Given the description of an element on the screen output the (x, y) to click on. 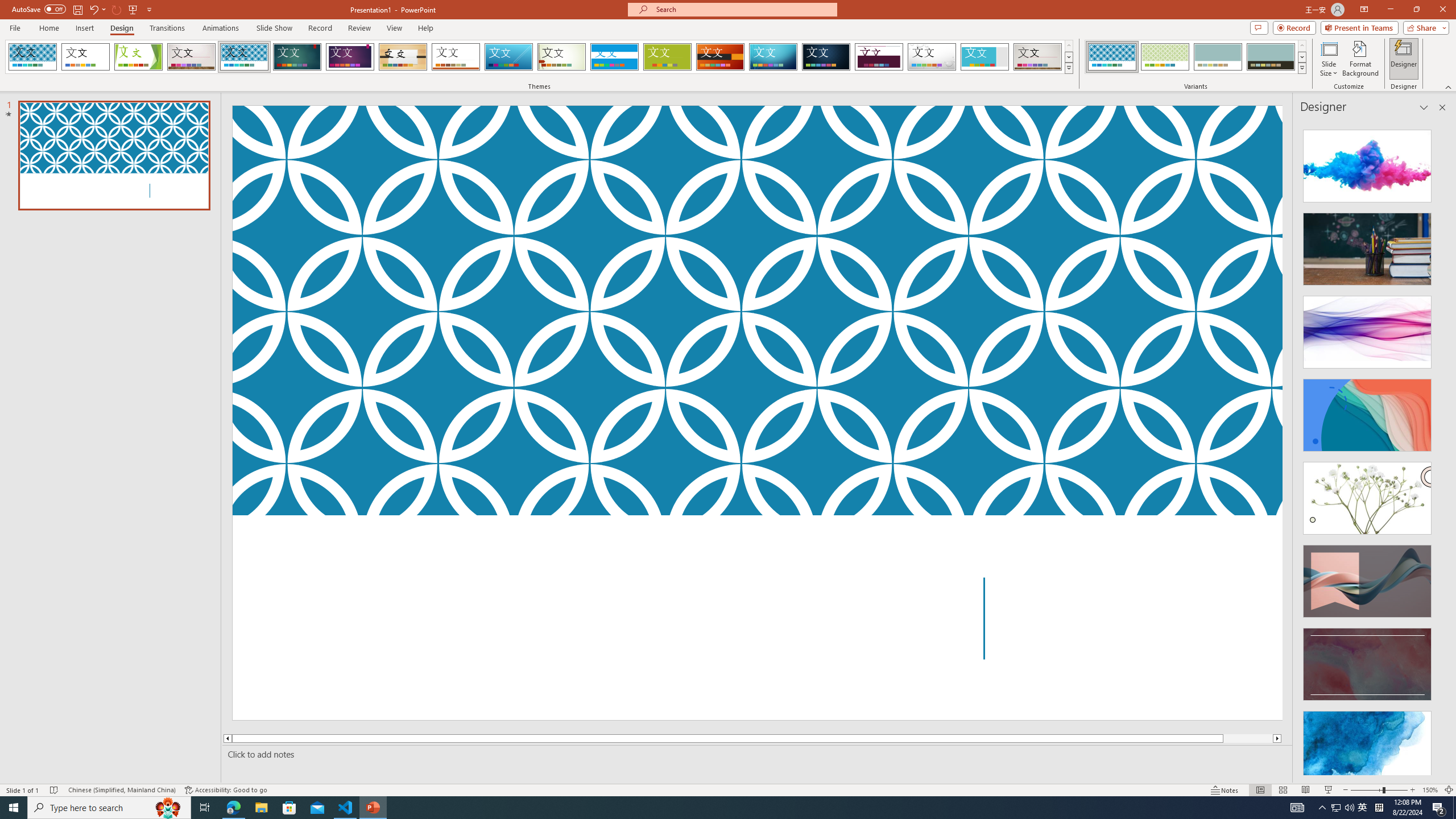
Organic Loading Preview... (403, 56)
Class: NetUIScrollBar (1441, 447)
Recommended Design: Design Idea (1366, 162)
Integral Loading Preview... (244, 56)
